Given the description of an element on the screen output the (x, y) to click on. 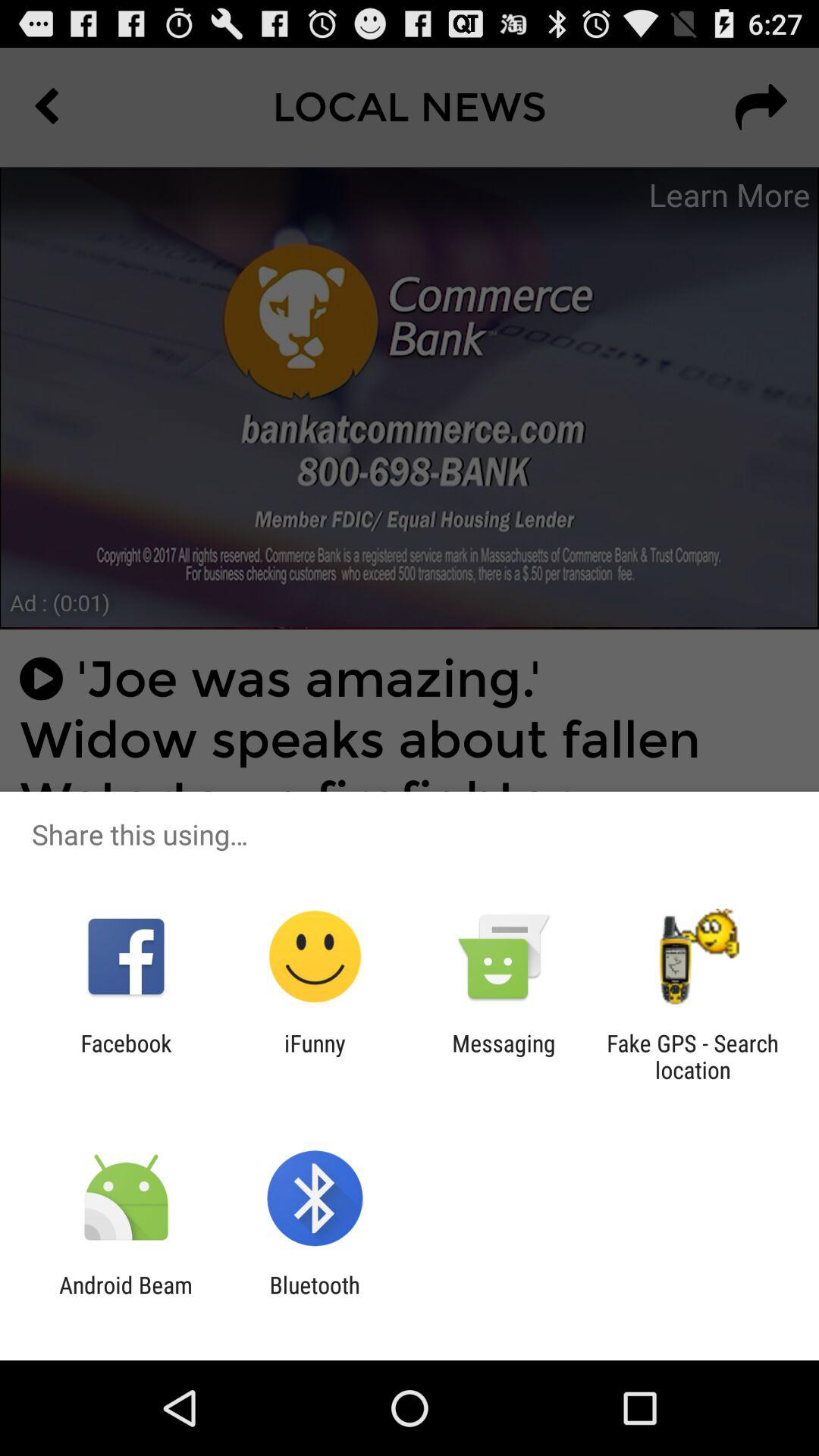
choose the icon to the left of fake gps search item (503, 1056)
